Given the description of an element on the screen output the (x, y) to click on. 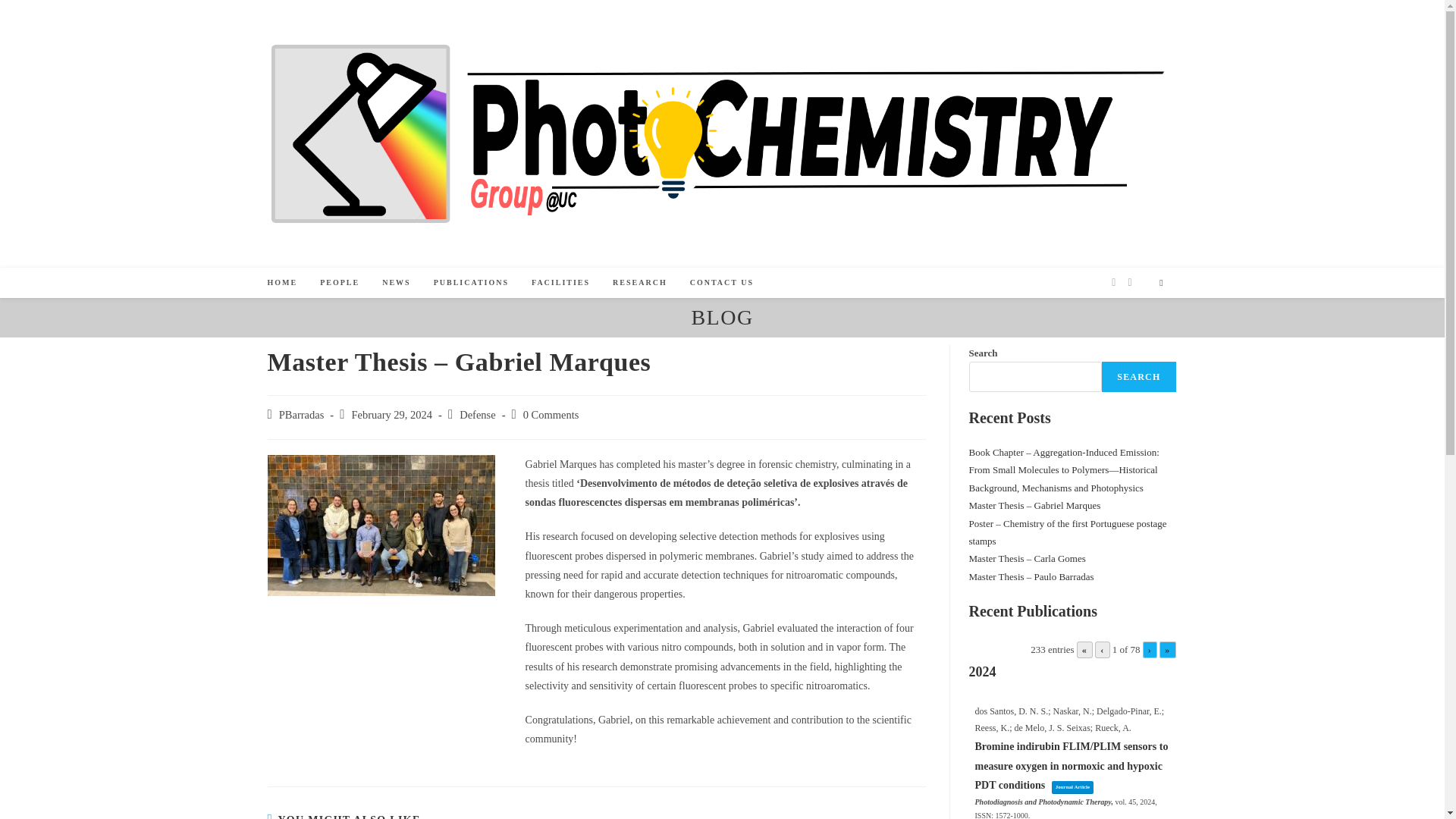
SEARCH (1138, 376)
FACILITIES (560, 282)
HOME (282, 282)
PEOPLE (339, 282)
RESEARCH (639, 282)
Posts by PBarradas (301, 414)
last page (1166, 649)
Defense (478, 414)
NEWS (396, 282)
PBarradas (301, 414)
